Given the description of an element on the screen output the (x, y) to click on. 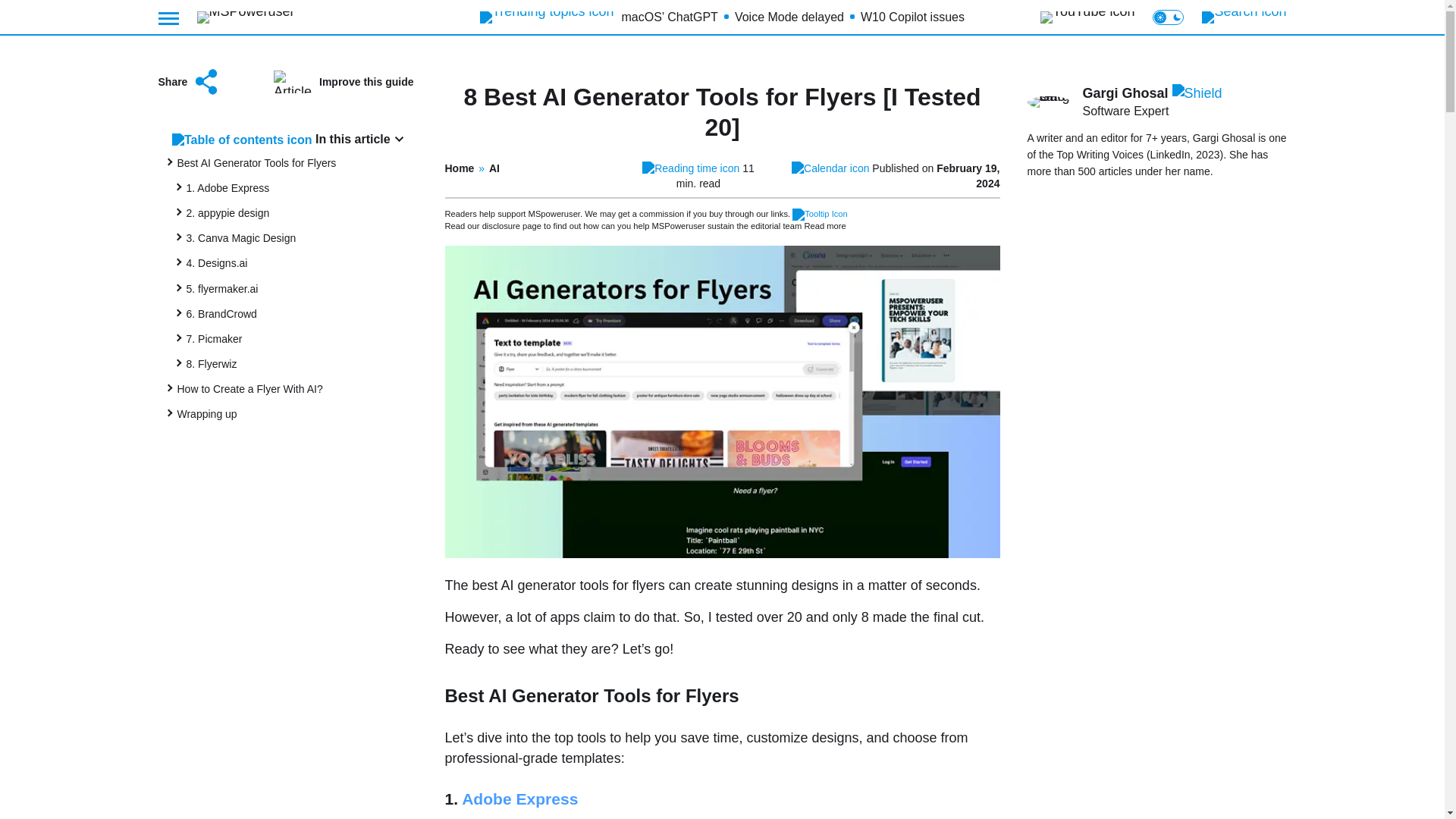
Open search bar (1243, 17)
Voice Mode delayed (789, 17)
Share this article (189, 81)
Best AI Generator Tools for Flyers (256, 162)
W10 Copilot issues (911, 17)
1. Adobe Express (227, 187)
Share (189, 81)
2. appypie design (227, 213)
